Given the description of an element on the screen output the (x, y) to click on. 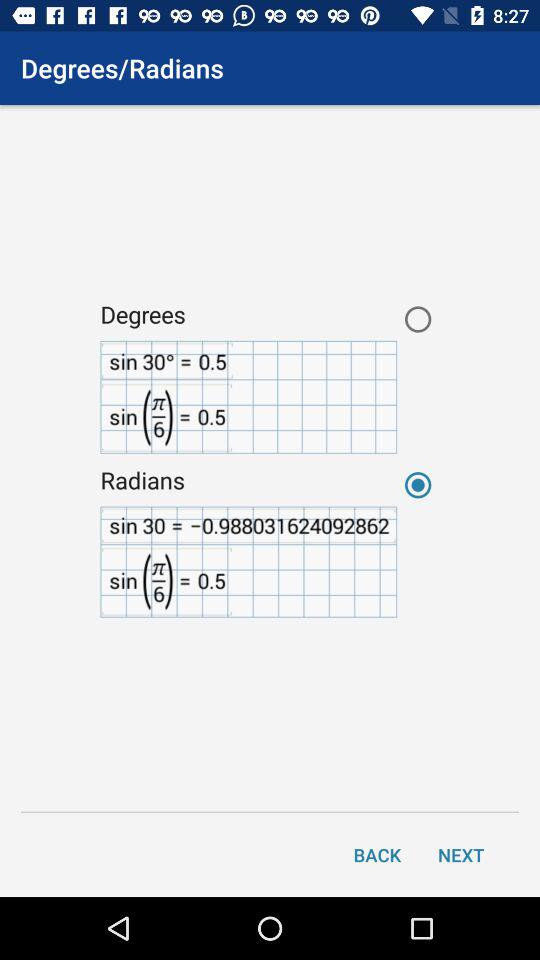
turn off the item to the left of next icon (377, 854)
